Given the description of an element on the screen output the (x, y) to click on. 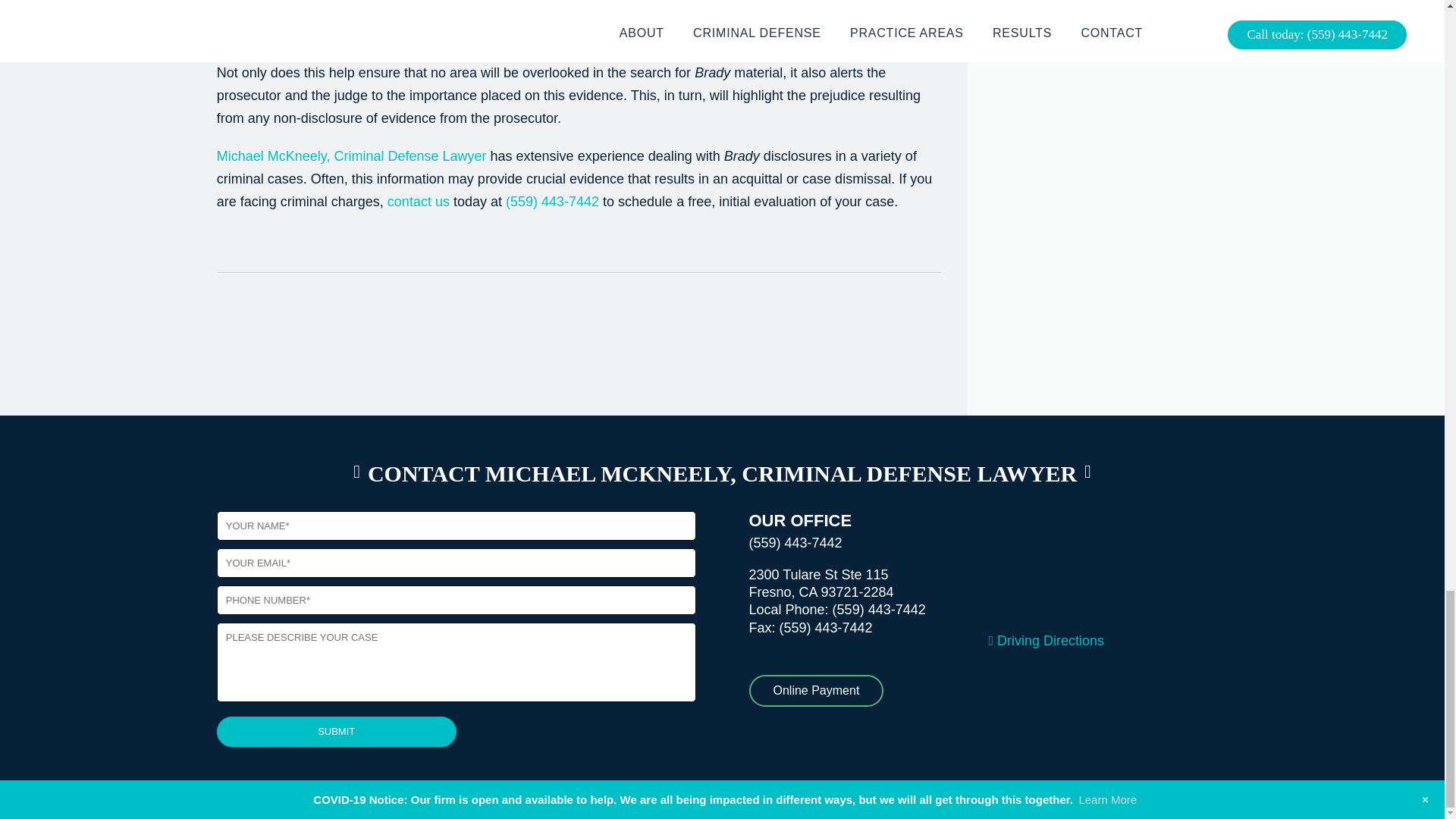
Attorney Michael McKneely (351, 155)
office location (1045, 640)
contact us (418, 201)
Lawpay (816, 690)
Call Michael McKneely, Criminal Defense Lawyer Today (879, 609)
Michael McKneely, Criminal Defense Lawyer (351, 155)
Contact Michael McKneely, Criminal Defense Lawyer (418, 201)
Call Michael McKneely, Criminal Defense Lawyer Today (796, 542)
Submit (336, 731)
Call Michael McKneely, Criminal Defense Lawyer Today (551, 201)
